Given the description of an element on the screen output the (x, y) to click on. 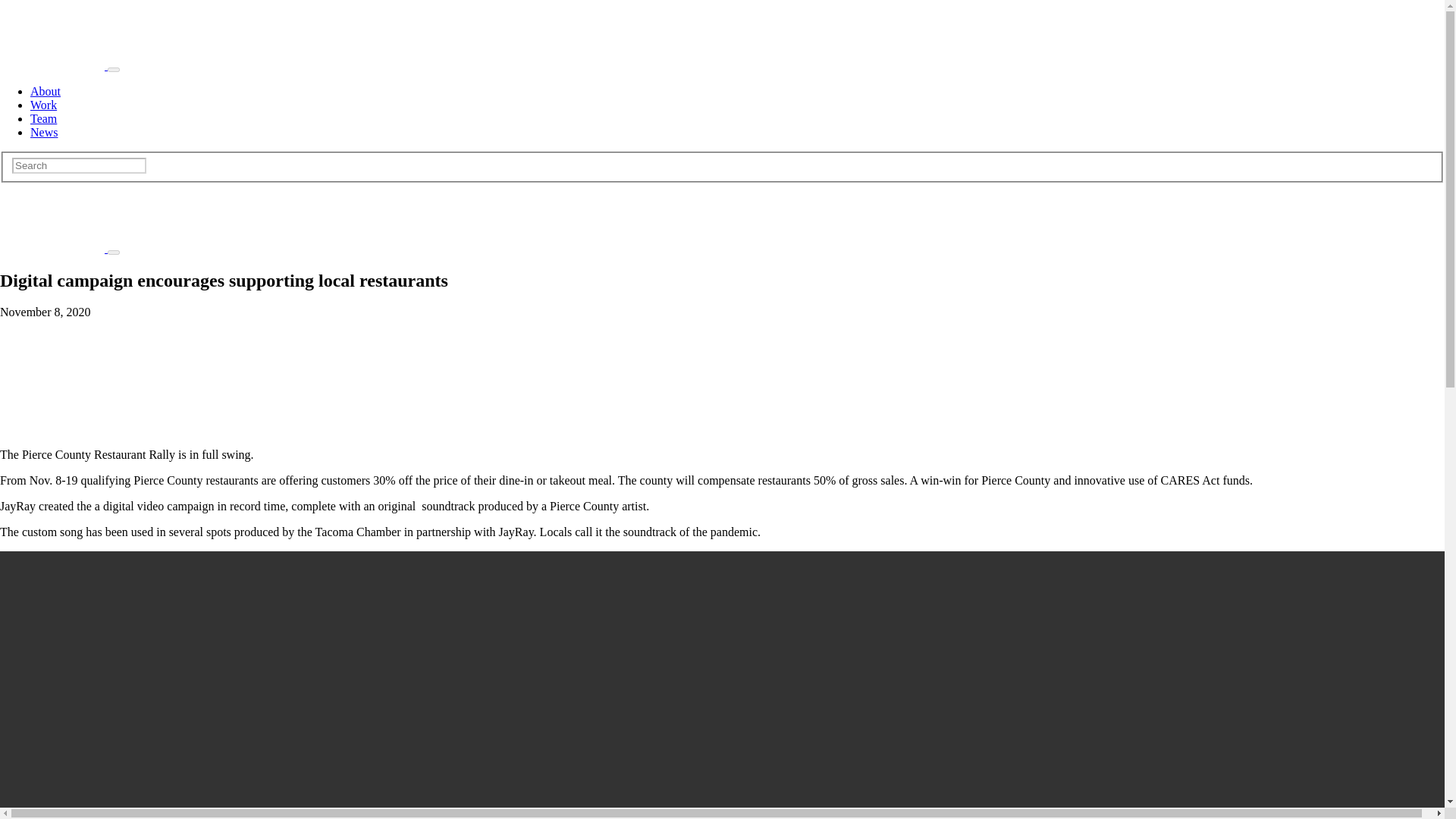
About (45, 91)
Work (43, 104)
News (44, 132)
Team (43, 118)
